Given the description of an element on the screen output the (x, y) to click on. 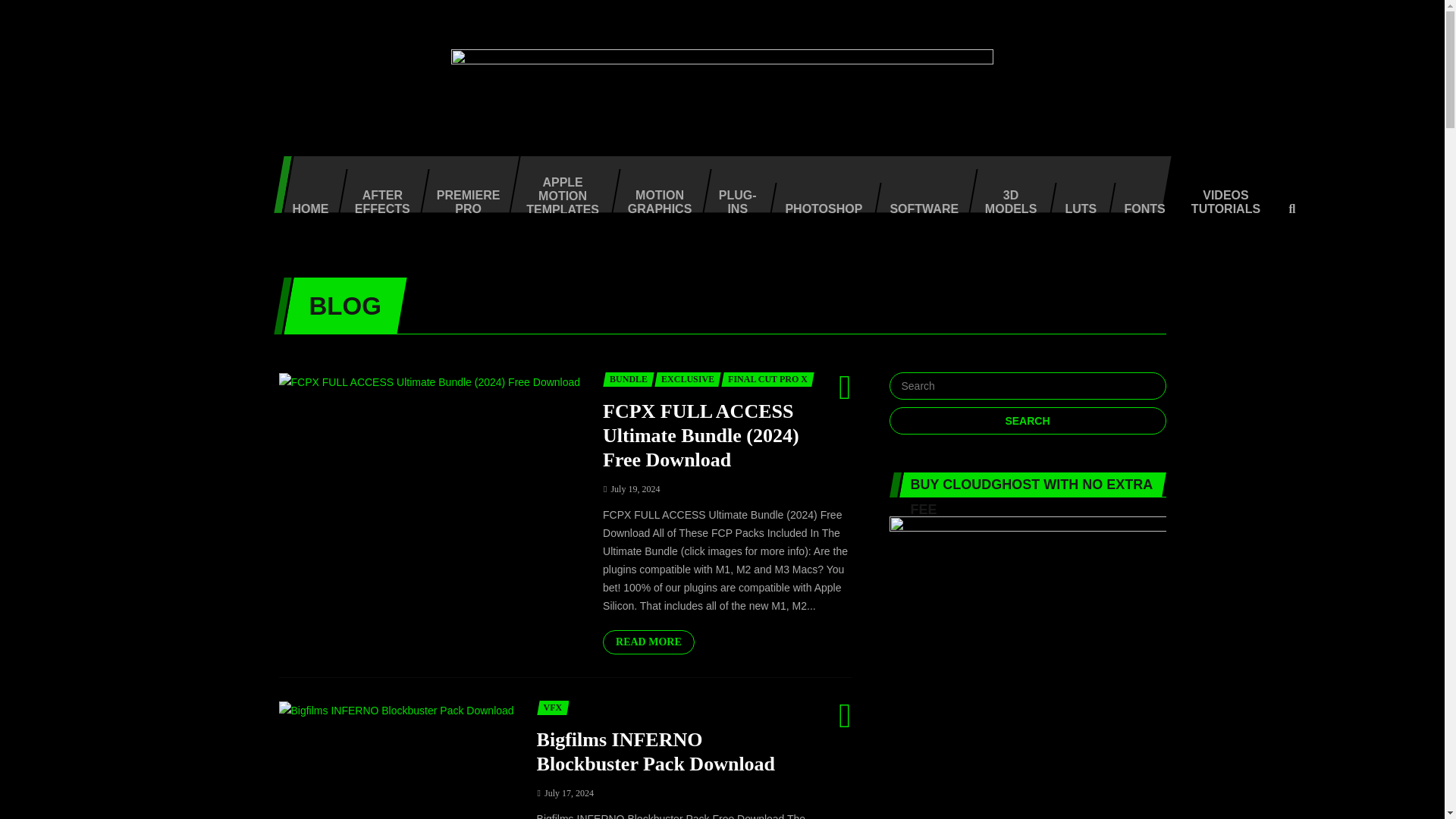
Premiere Pro (464, 197)
Motion Graphics (654, 197)
HOME (304, 210)
After Effects (377, 197)
APPLE MOTION TEMPLATES (558, 184)
Search (1027, 420)
MOTION GRAPHICS (654, 197)
Home (304, 210)
PREMIERE PRO (464, 197)
Plug-ins (732, 197)
Apple Motion Templates (558, 184)
PHOTOSHOP (817, 210)
PLUG-INS (732, 197)
AFTER EFFECTS (377, 197)
SOFTWARE (917, 210)
